Given the description of an element on the screen output the (x, y) to click on. 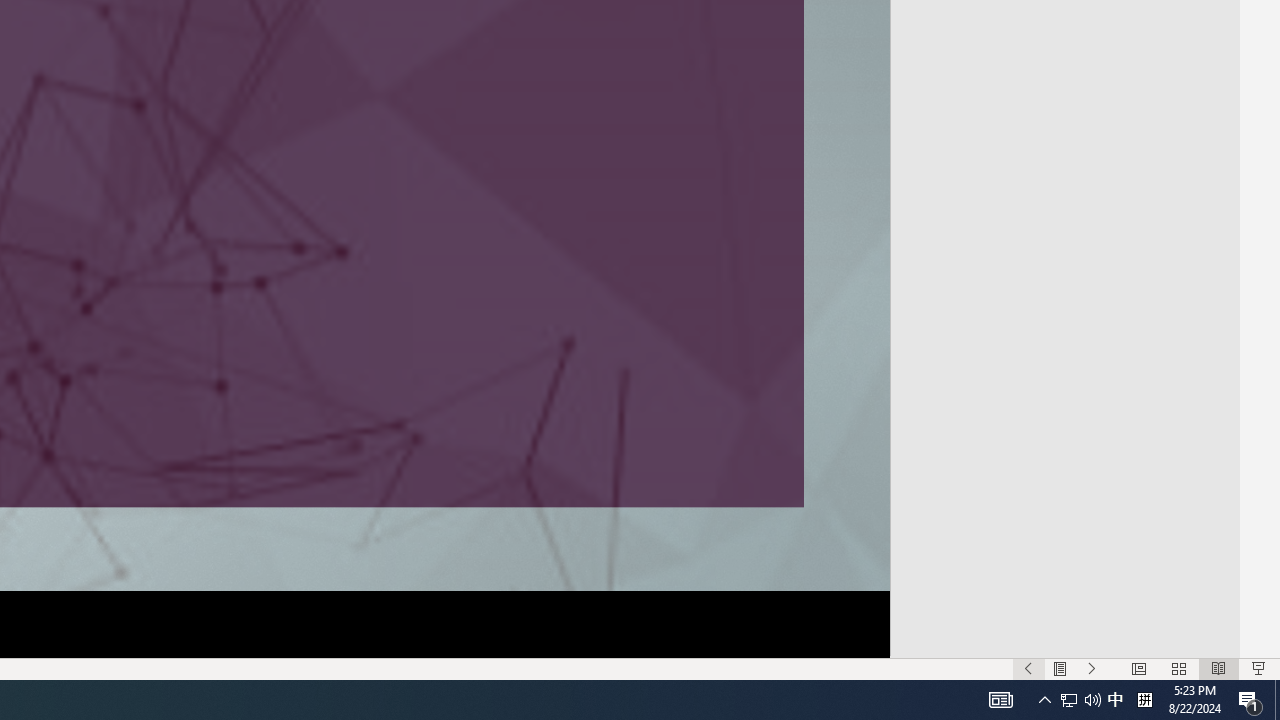
Slide Show Next On (1092, 668)
Menu On (1060, 668)
Slide Show Previous On (1028, 668)
